Given the description of an element on the screen output the (x, y) to click on. 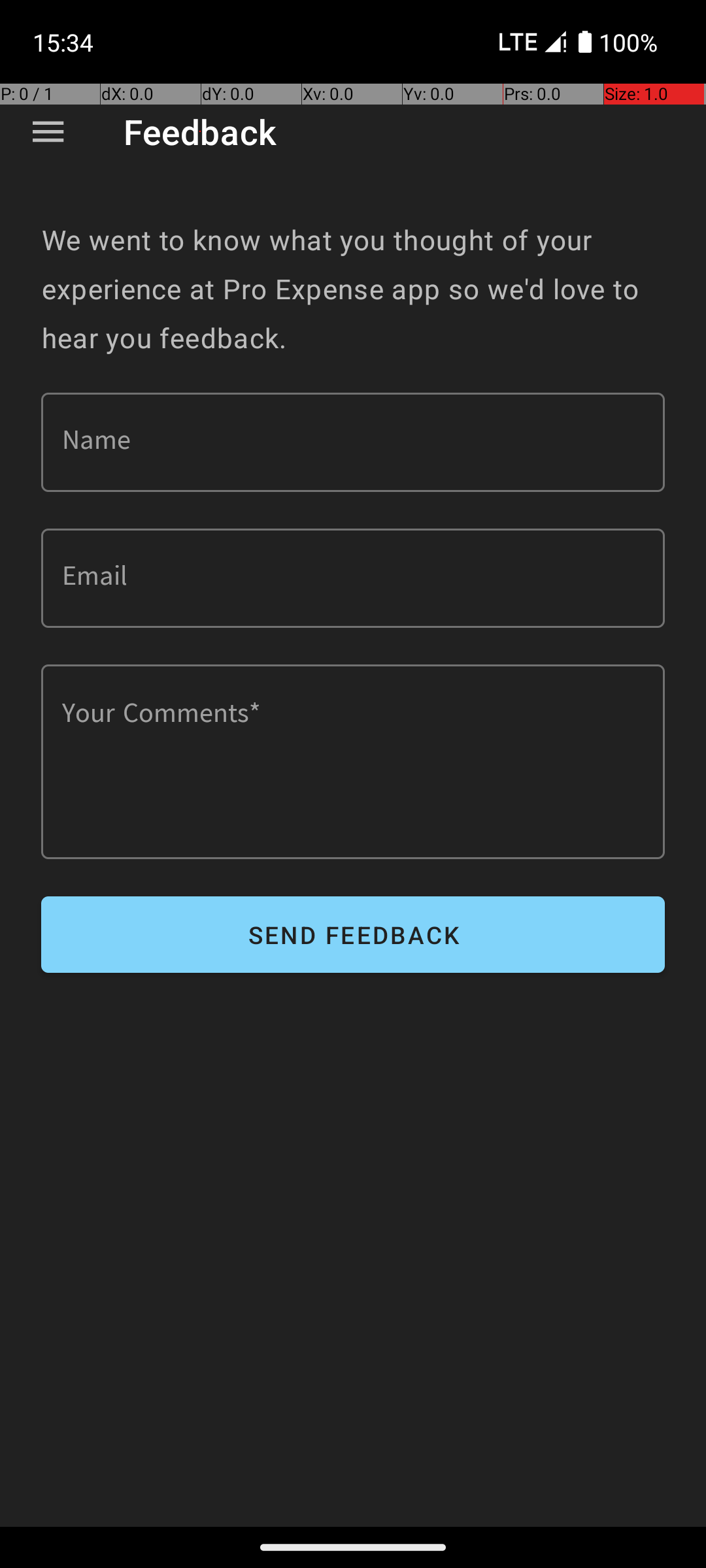
We went to know what you thought of your experience at Pro Expense app so we'd love to hear you feedback. Element type: android.widget.TextView (352, 288)
Your Comments* Element type: android.widget.EditText (352, 761)
SEND FEEDBACK Element type: android.widget.Button (352, 934)
